Given the description of an element on the screen output the (x, y) to click on. 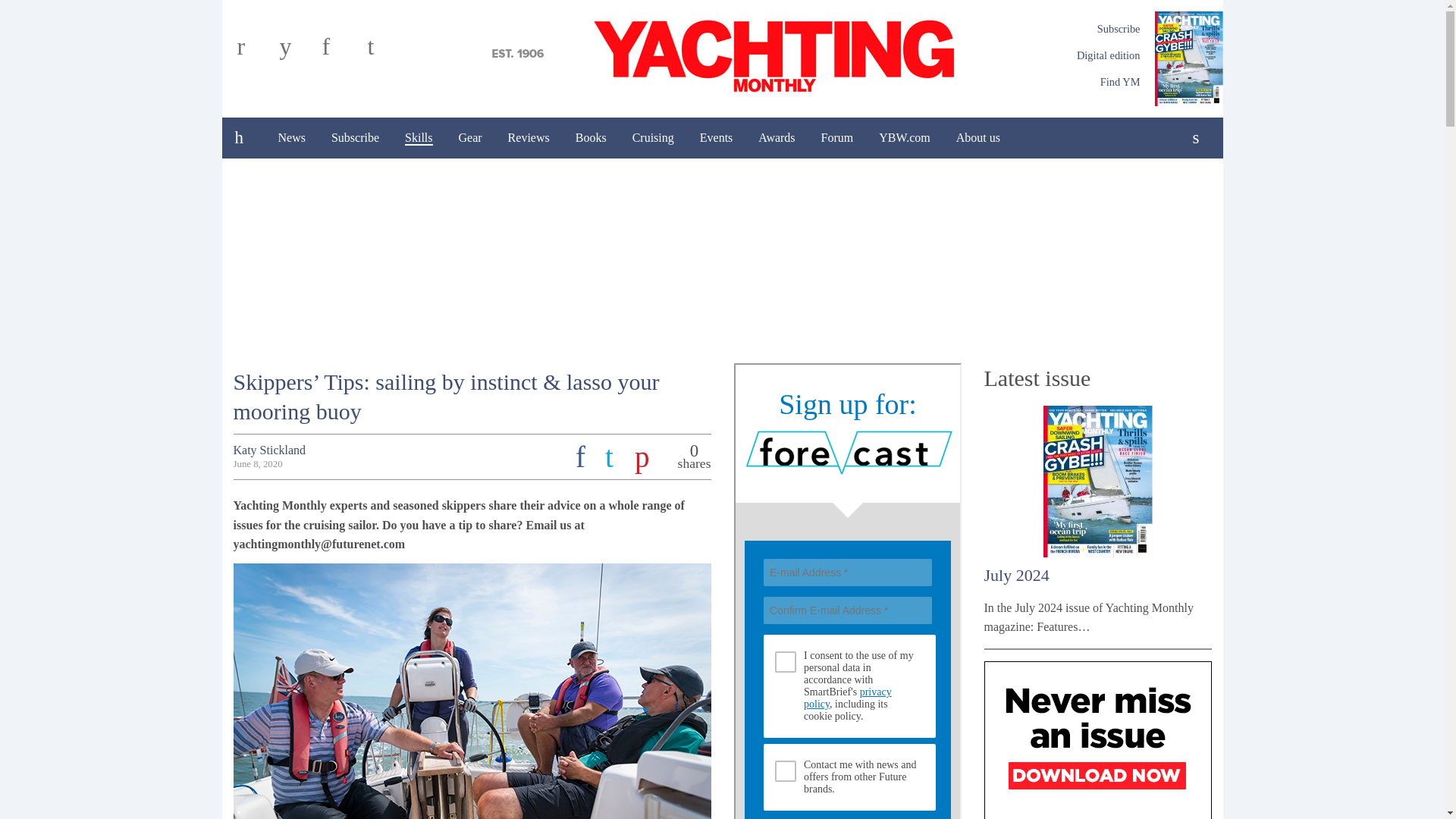
Subscribe (354, 137)
Subscribe  (1118, 28)
Awards (776, 137)
Books (591, 137)
Reviews (528, 137)
r (254, 52)
Find YM (1120, 81)
f (339, 52)
Katy Stickland's Profile (268, 449)
y (297, 52)
Cruising (653, 137)
t (384, 52)
Yachting Monthly (722, 53)
Events (716, 137)
Digital edition (1108, 55)
